Given the description of an element on the screen output the (x, y) to click on. 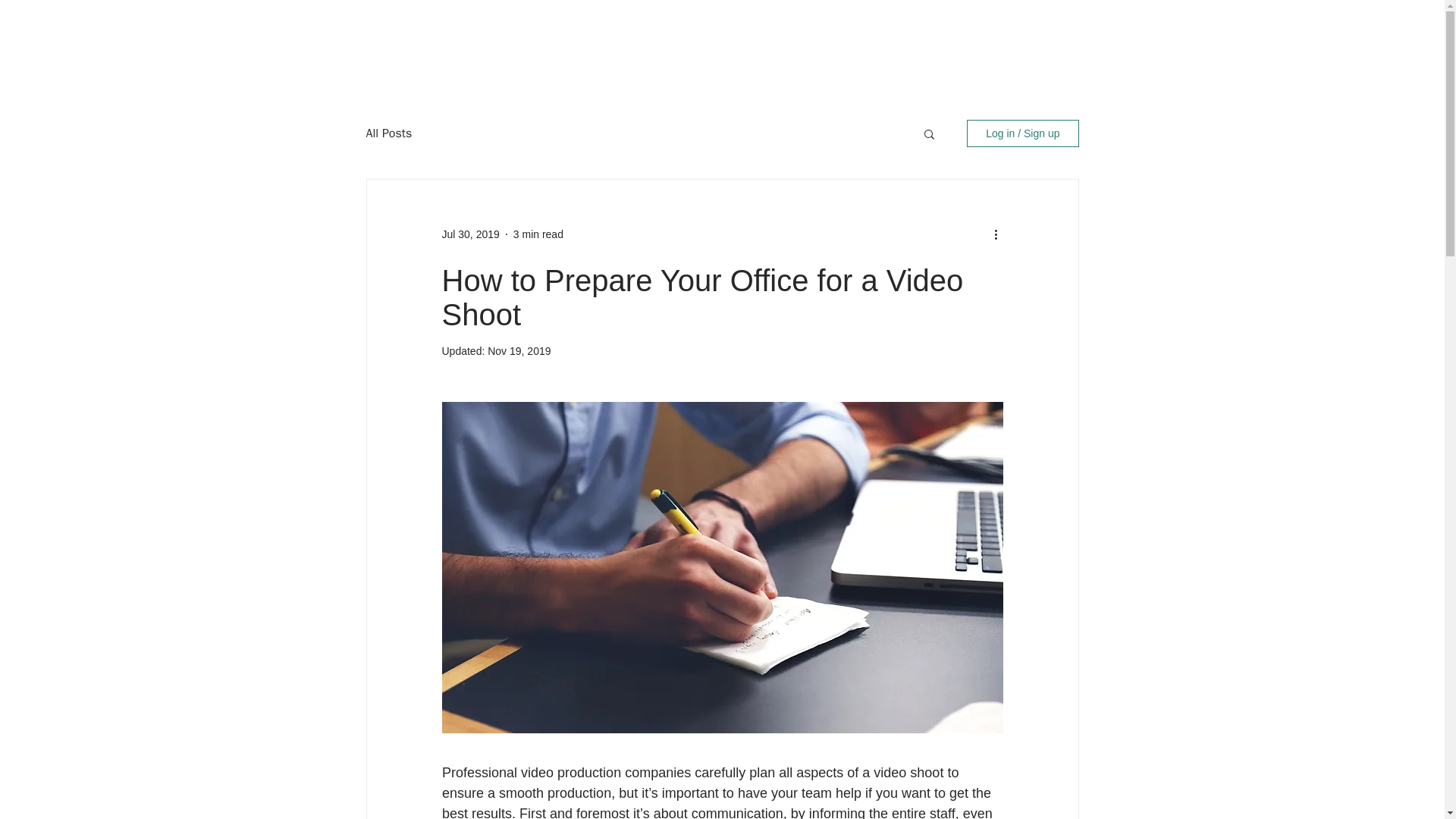
All Posts (388, 133)
3 min read (538, 233)
Nov 19, 2019 (518, 350)
Jul 30, 2019 (470, 233)
